Given the description of an element on the screen output the (x, y) to click on. 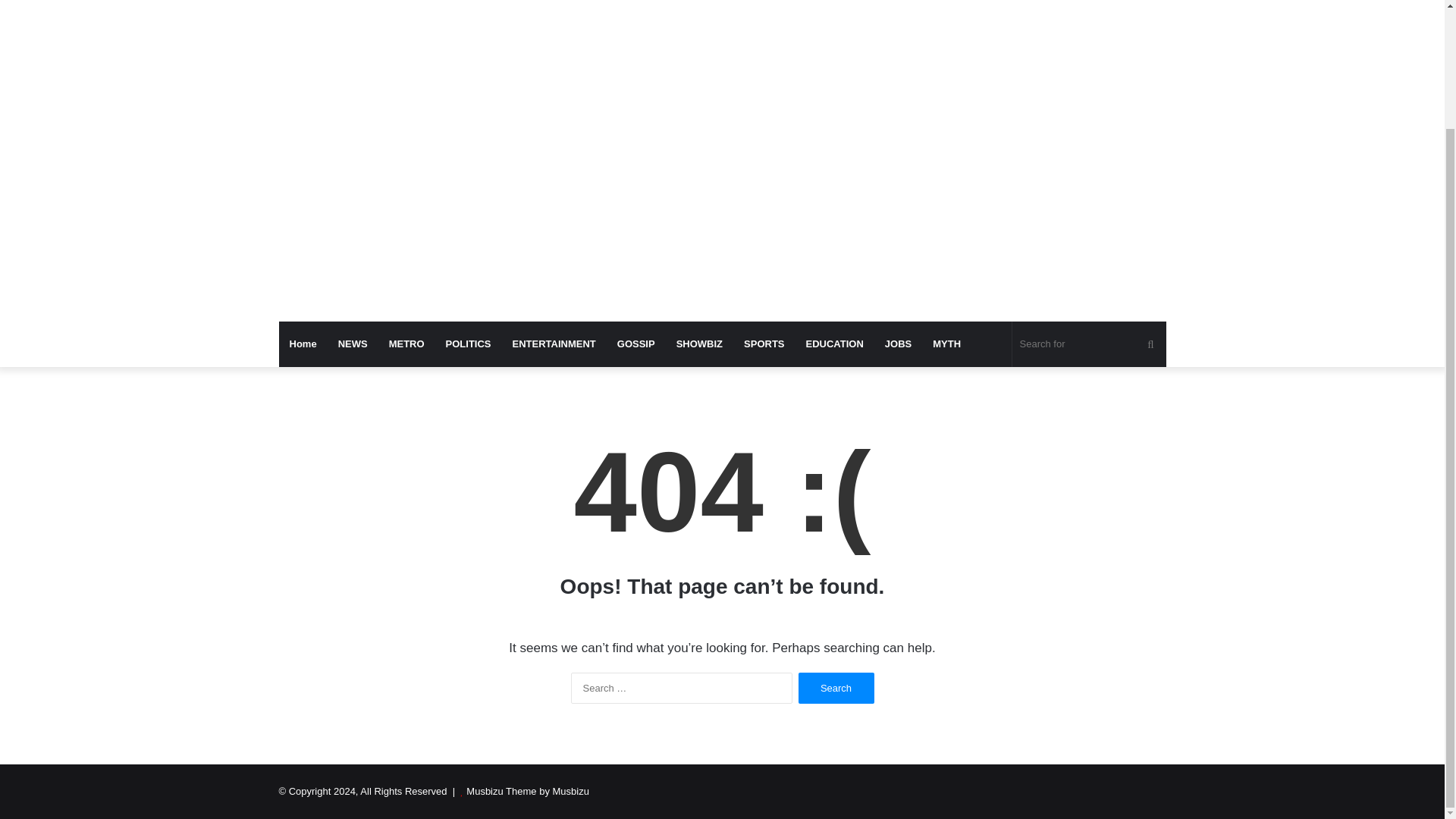
Search (835, 687)
Home (303, 343)
SPORTS (763, 343)
METRO (406, 343)
POLITICS (468, 343)
NEWS (352, 343)
Search for (1088, 343)
EDUCATION (834, 343)
Musbizu (419, 4)
GOSSIP (636, 343)
Musbizu Theme by Musbizu (527, 790)
Search (835, 687)
MYTH (946, 343)
JOBS (898, 343)
